Given the description of an element on the screen output the (x, y) to click on. 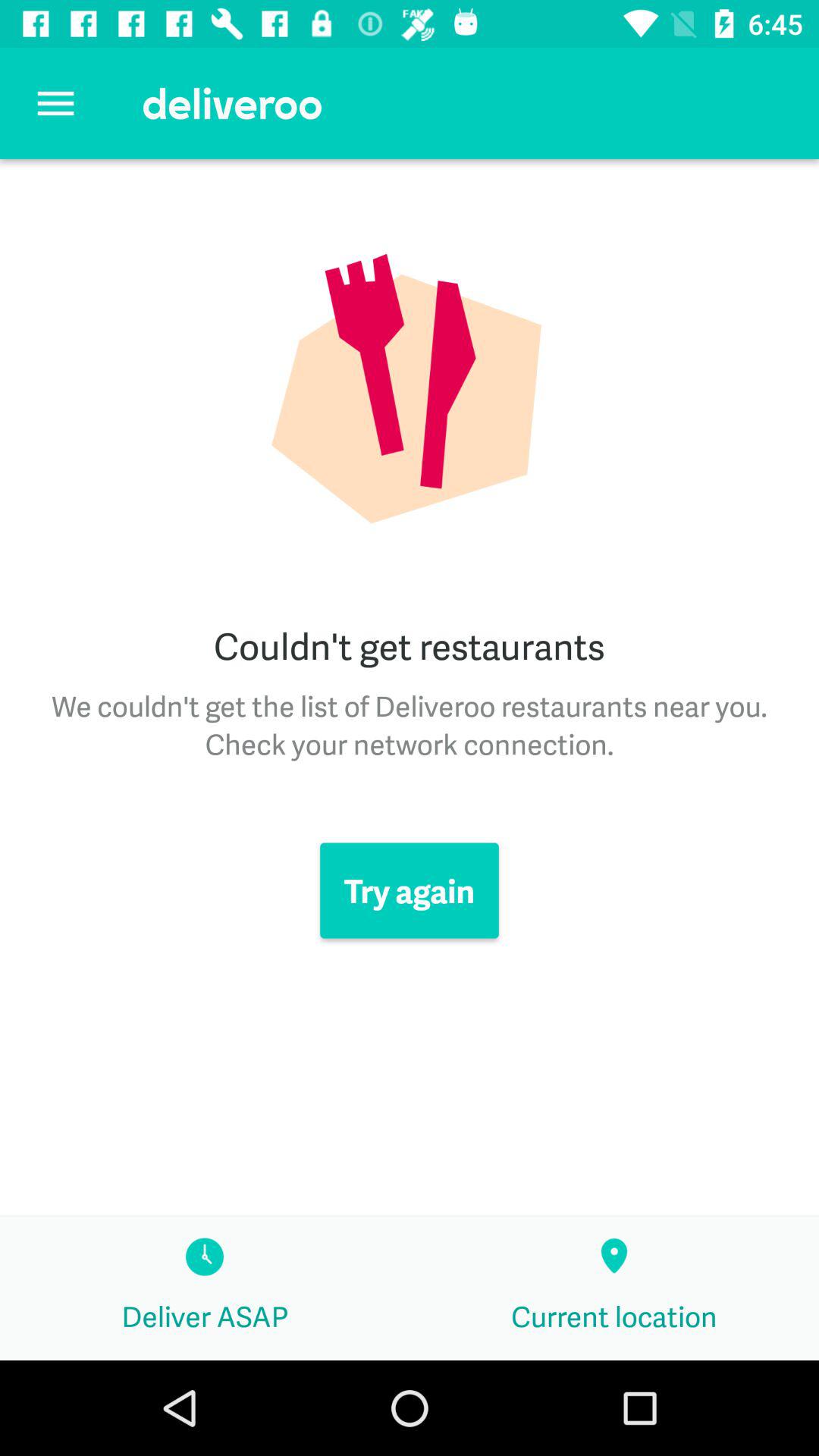
select the icon at the bottom right corner (614, 1288)
